Given the description of an element on the screen output the (x, y) to click on. 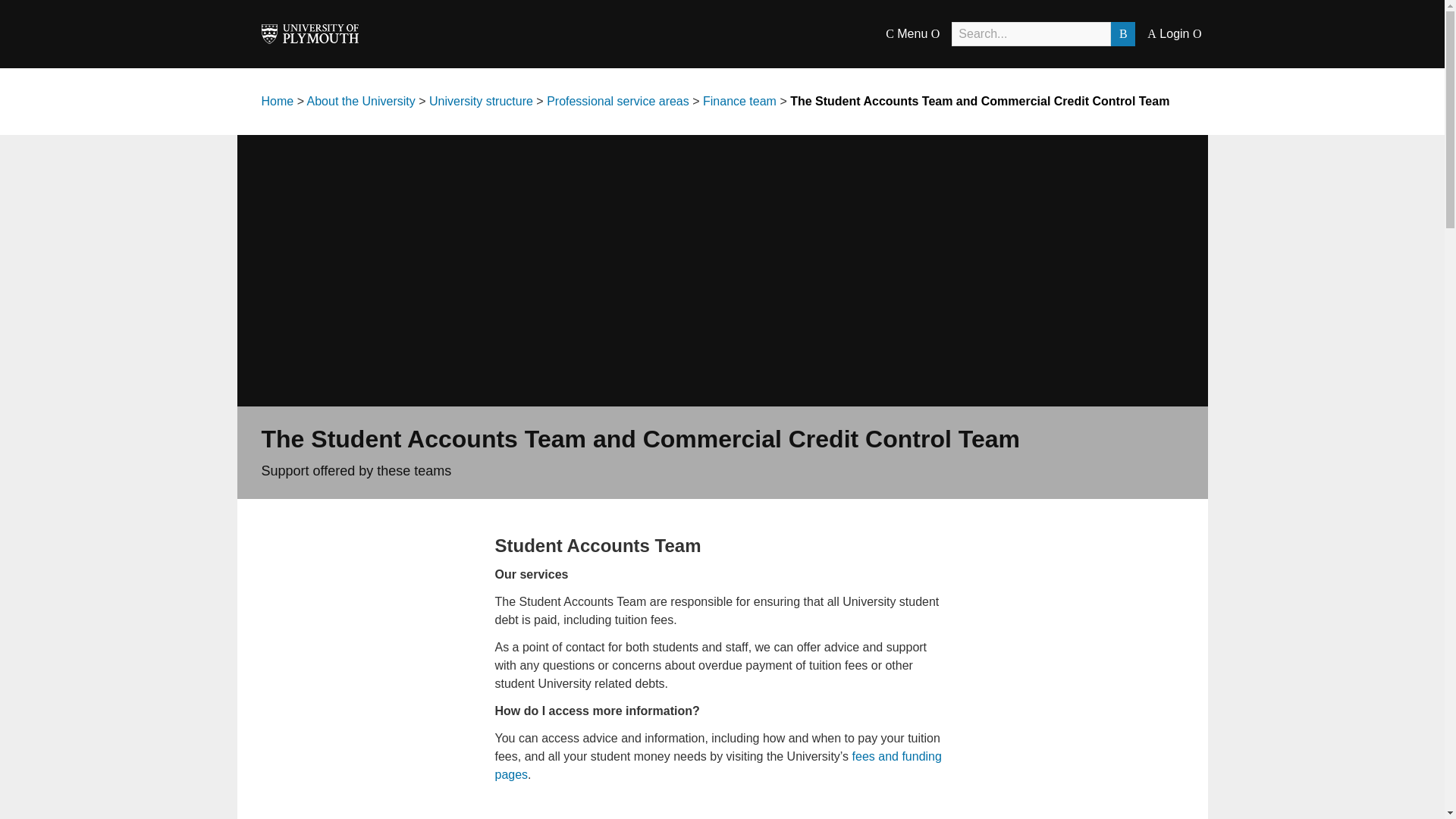
A Login O (1174, 33)
C Menu O (911, 33)
B (1122, 33)
